Given the description of an element on the screen output the (x, y) to click on. 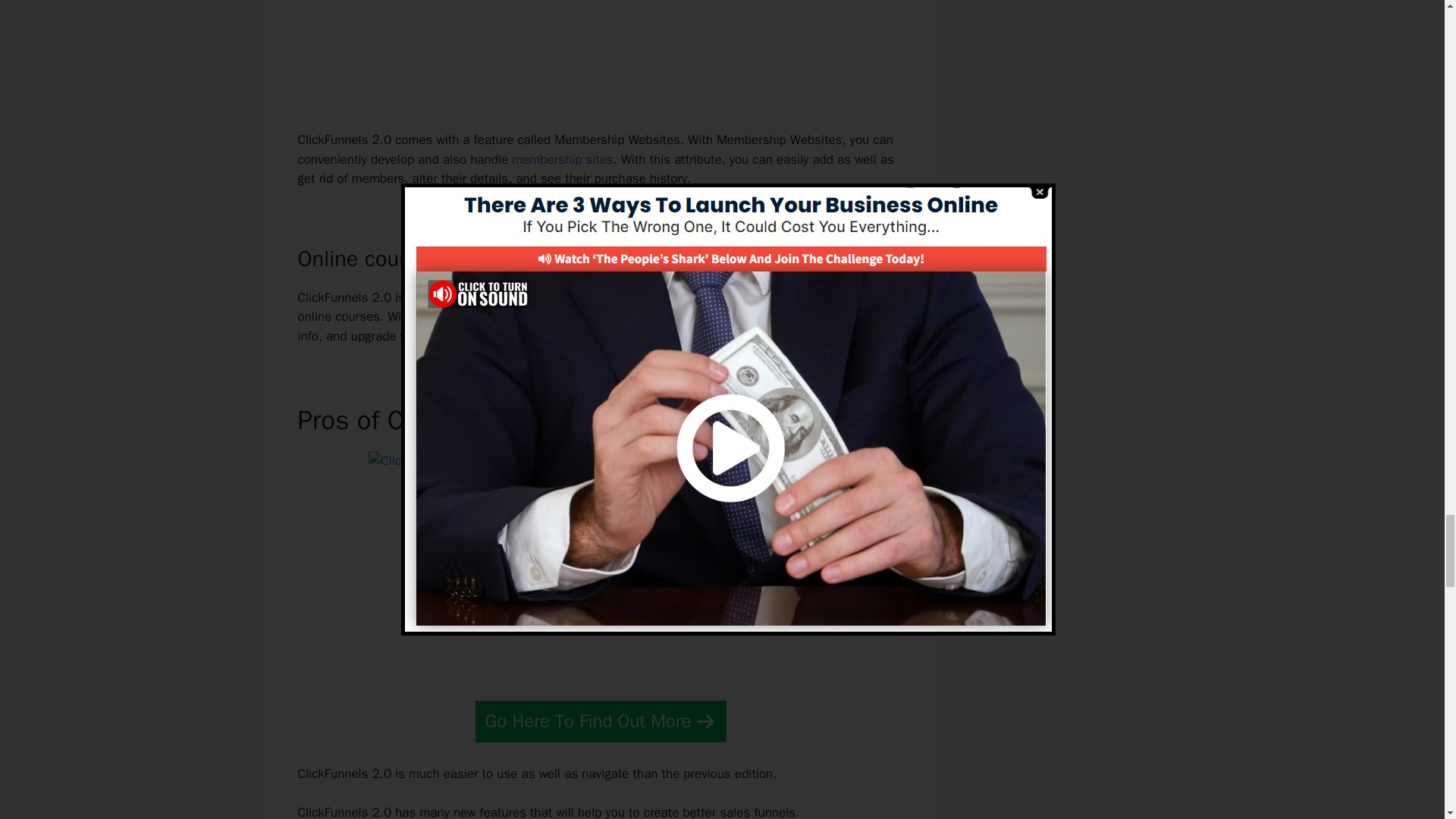
membership sites (562, 159)
Go Here To Find Out More (601, 721)
